Given the description of an element on the screen output the (x, y) to click on. 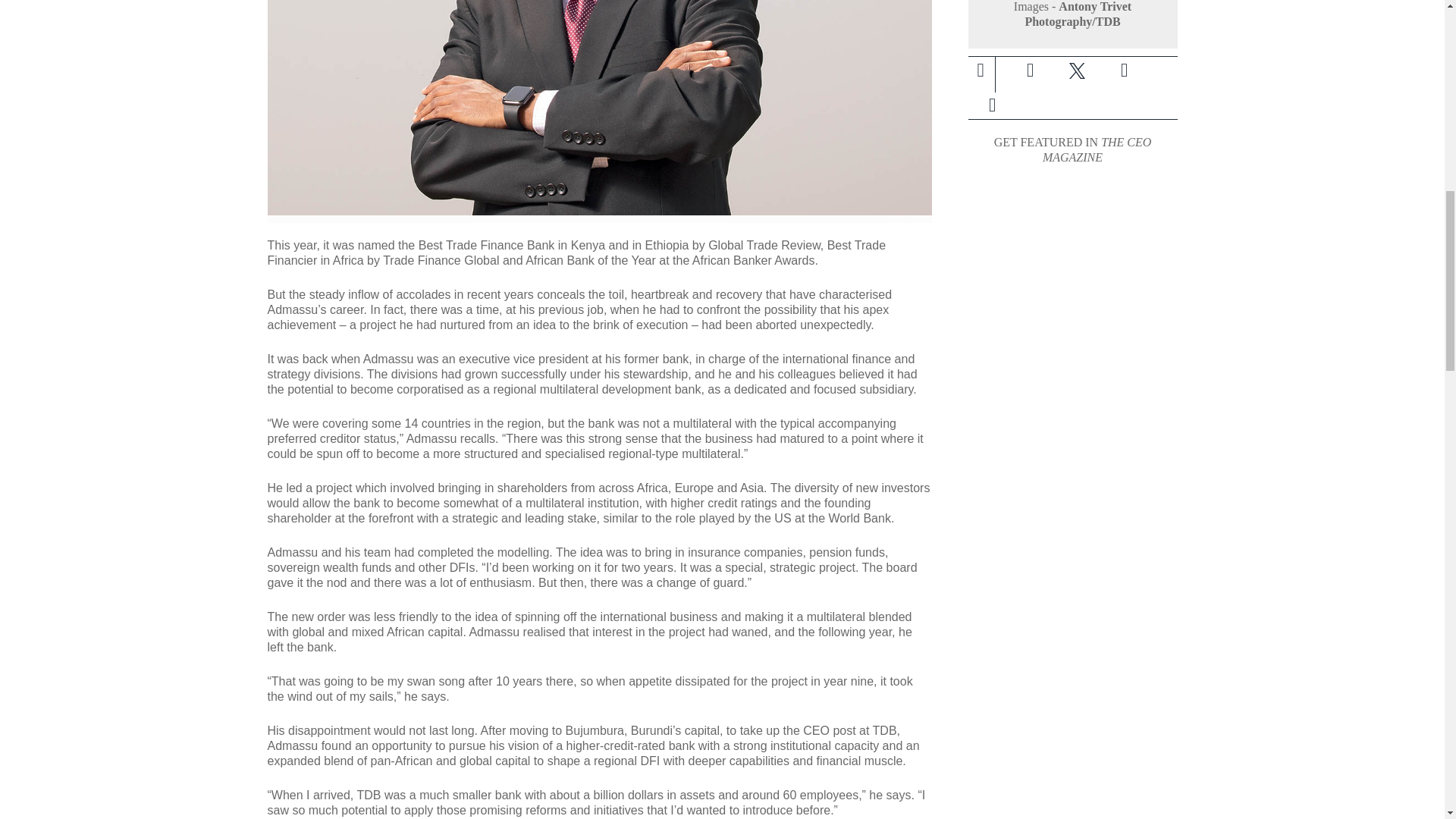
Share to Facebook (1029, 70)
Subscribe (991, 104)
GET FEATURED IN THE CEO MAGAZINE (1072, 150)
Sign-up (991, 104)
Share to Twitter (1076, 70)
Share to Linkedin (1123, 70)
